Given the description of an element on the screen output the (x, y) to click on. 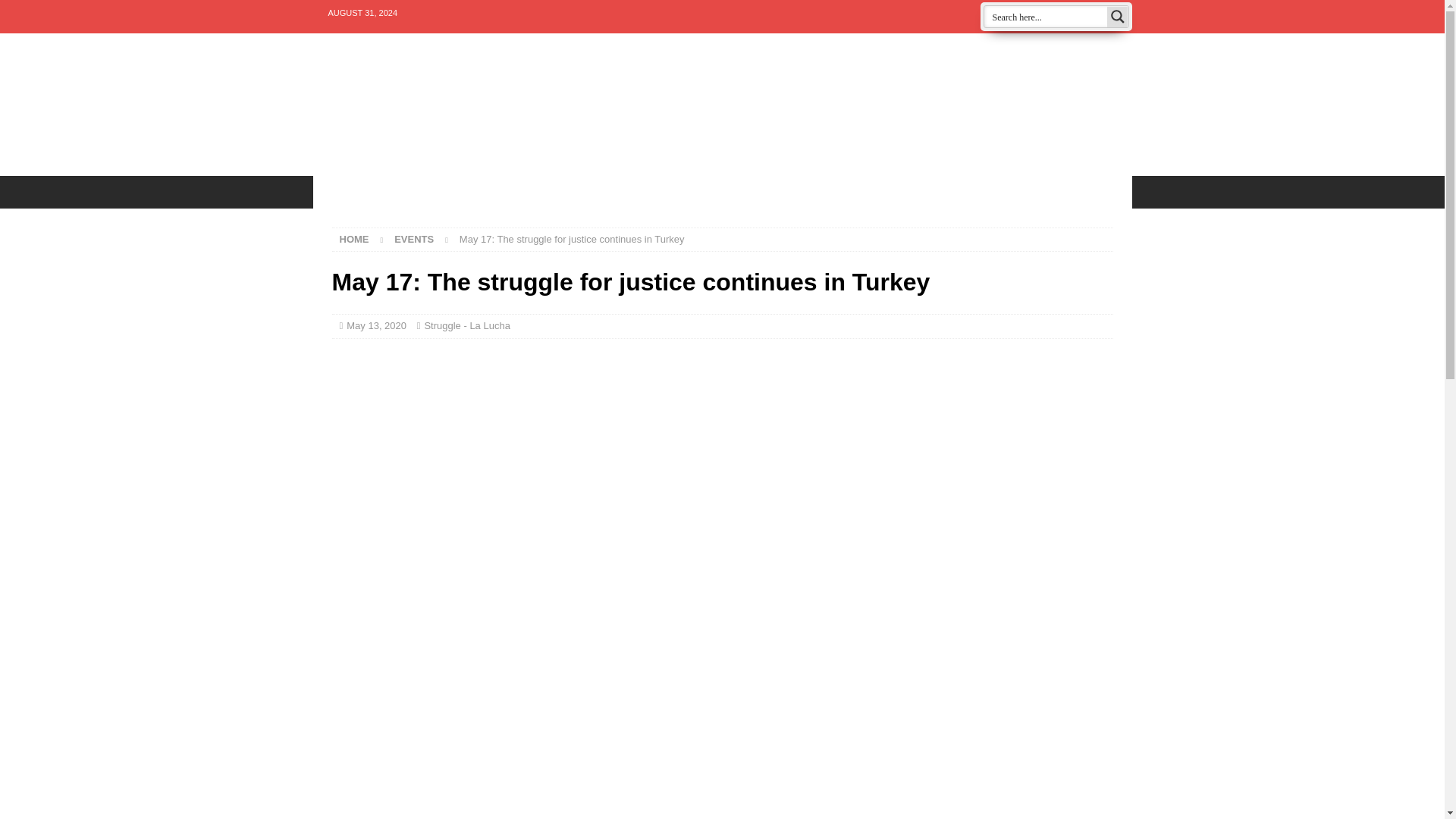
Struggle - La Lucha (466, 325)
LINKTR.EE (686, 192)
ARCHIVE (769, 192)
MARXISM (995, 192)
CONTACT (525, 192)
ABOUT (605, 192)
May 13, 2020 (376, 325)
EVENTS (349, 192)
EVENTS (413, 238)
PDF (835, 192)
